Given the description of an element on the screen output the (x, y) to click on. 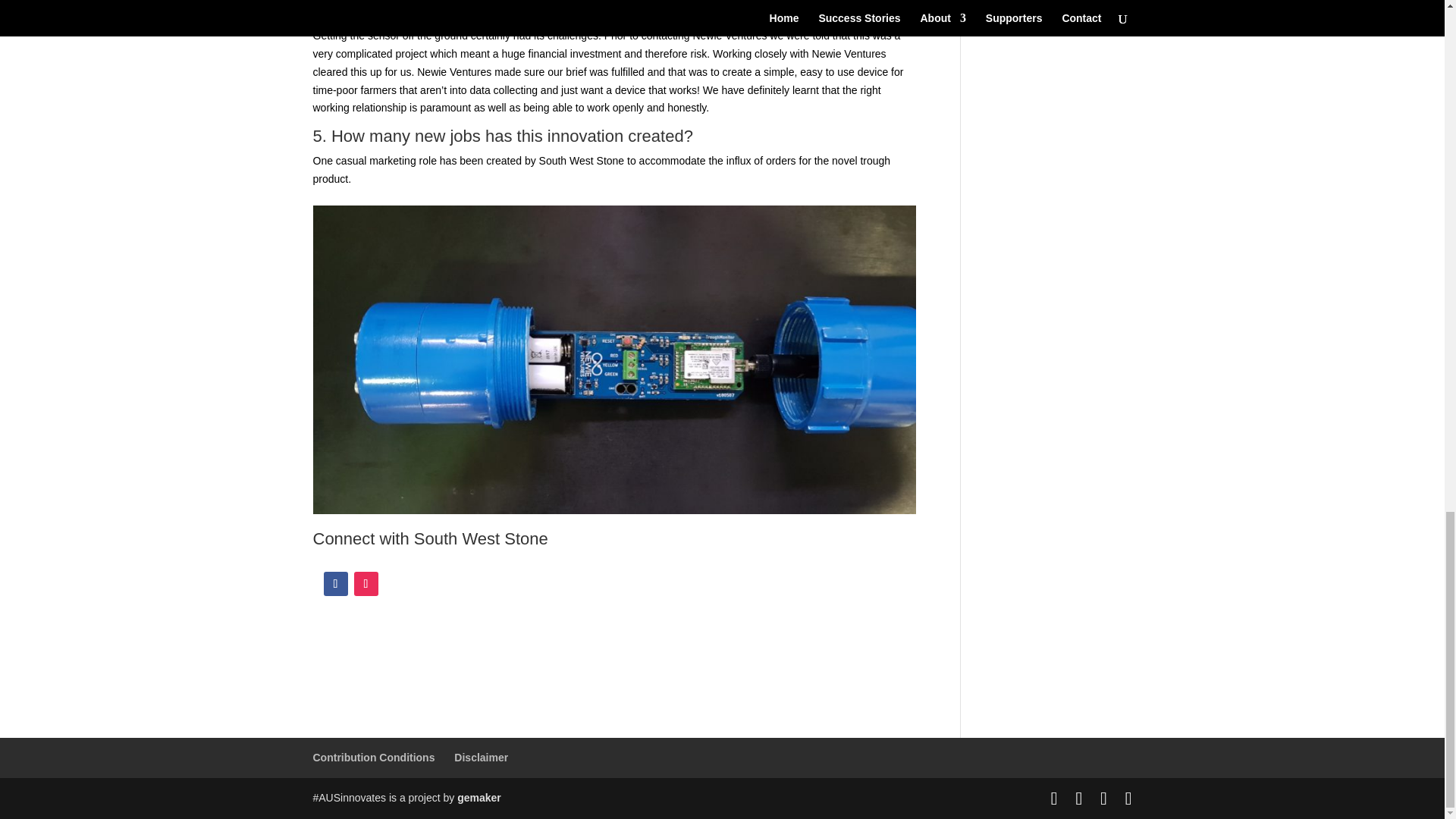
Contribution Conditions (373, 757)
Disclaimer (481, 757)
Follow on Instagram (365, 583)
Follow on Facebook (335, 583)
